Given the description of an element on the screen output the (x, y) to click on. 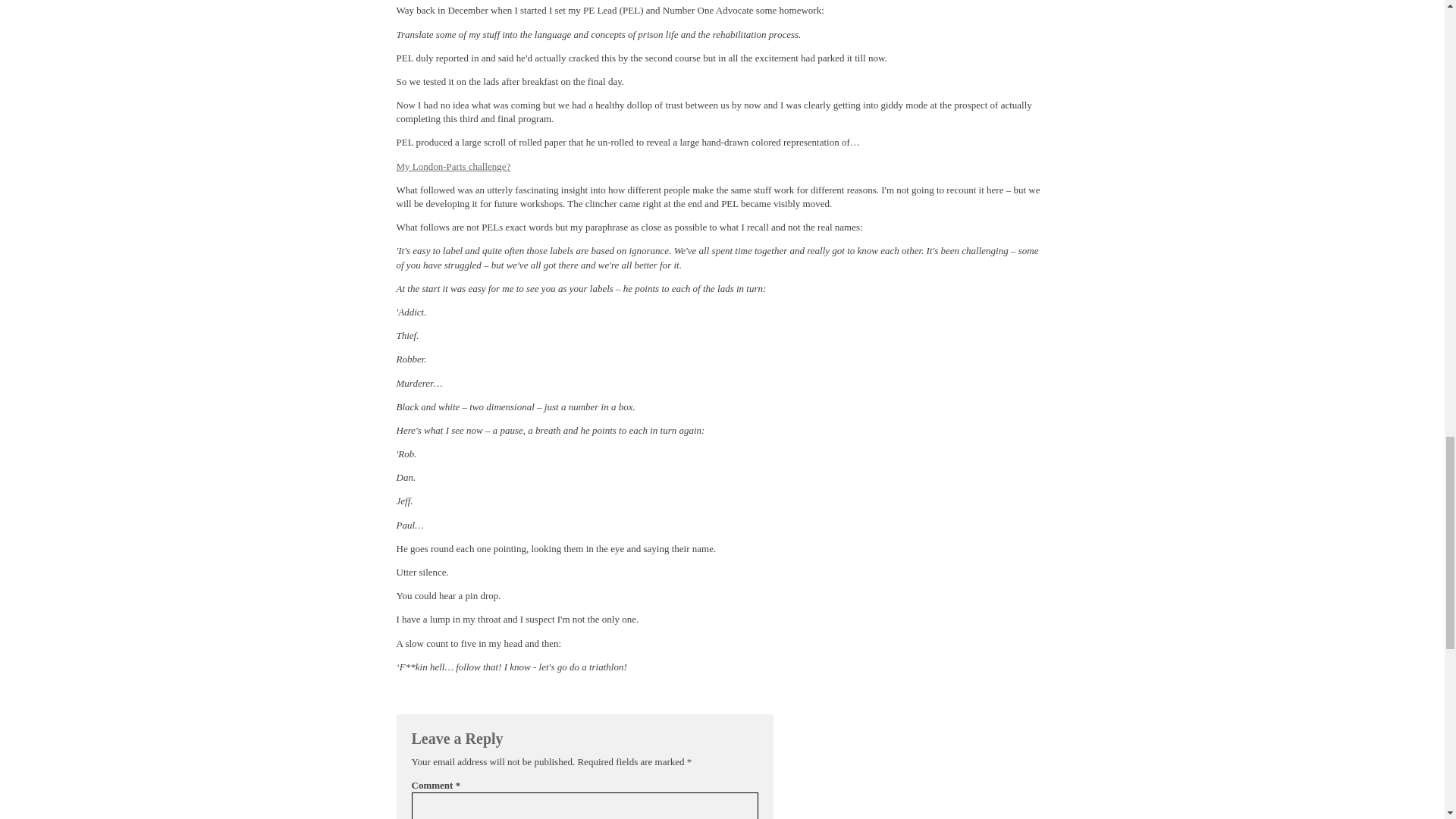
My London-Paris challenge? (453, 165)
